Given the description of an element on the screen output the (x, y) to click on. 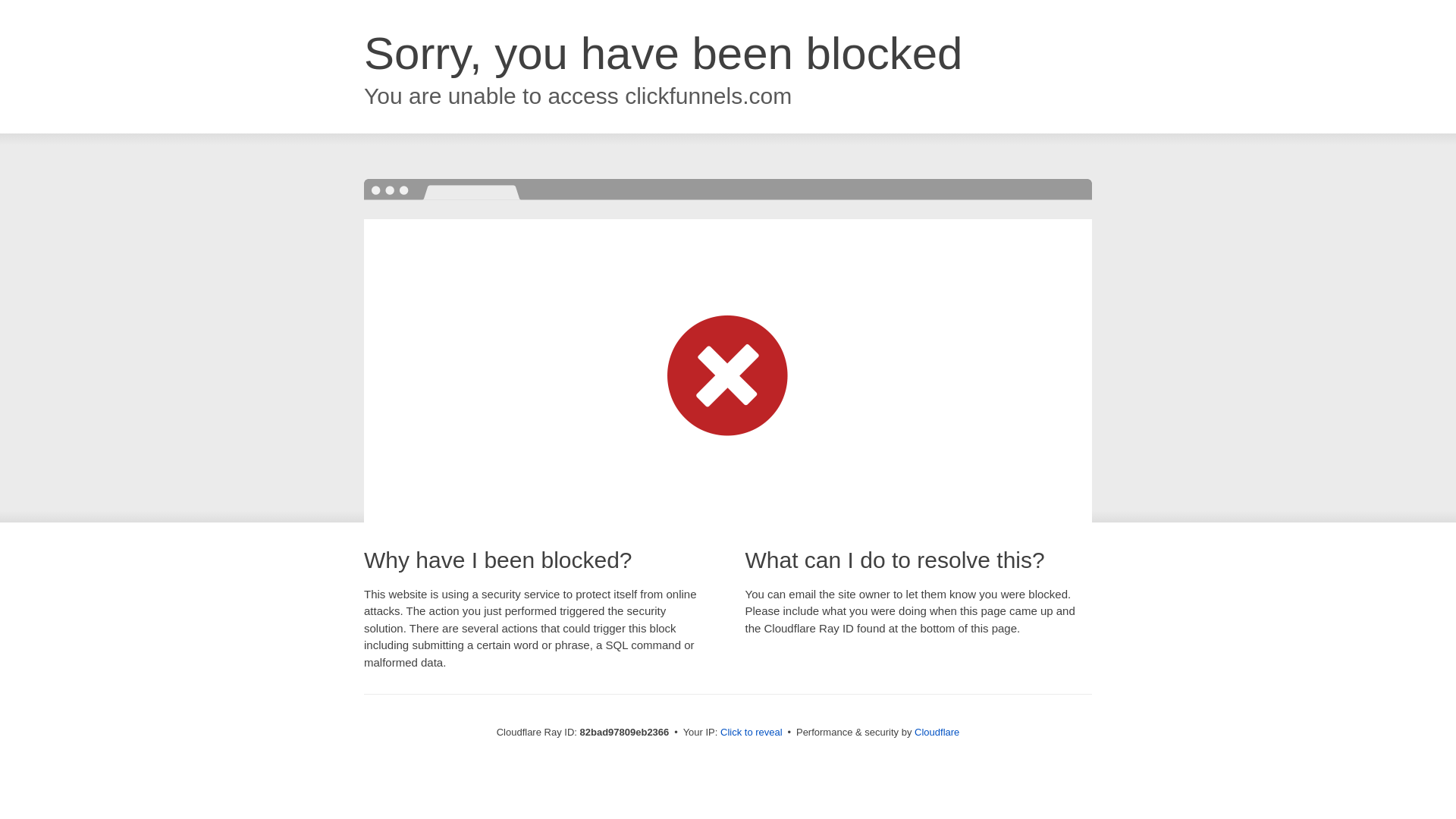
Cloudflare Element type: text (936, 731)
Click to reveal Element type: text (751, 732)
